Given the description of an element on the screen output the (x, y) to click on. 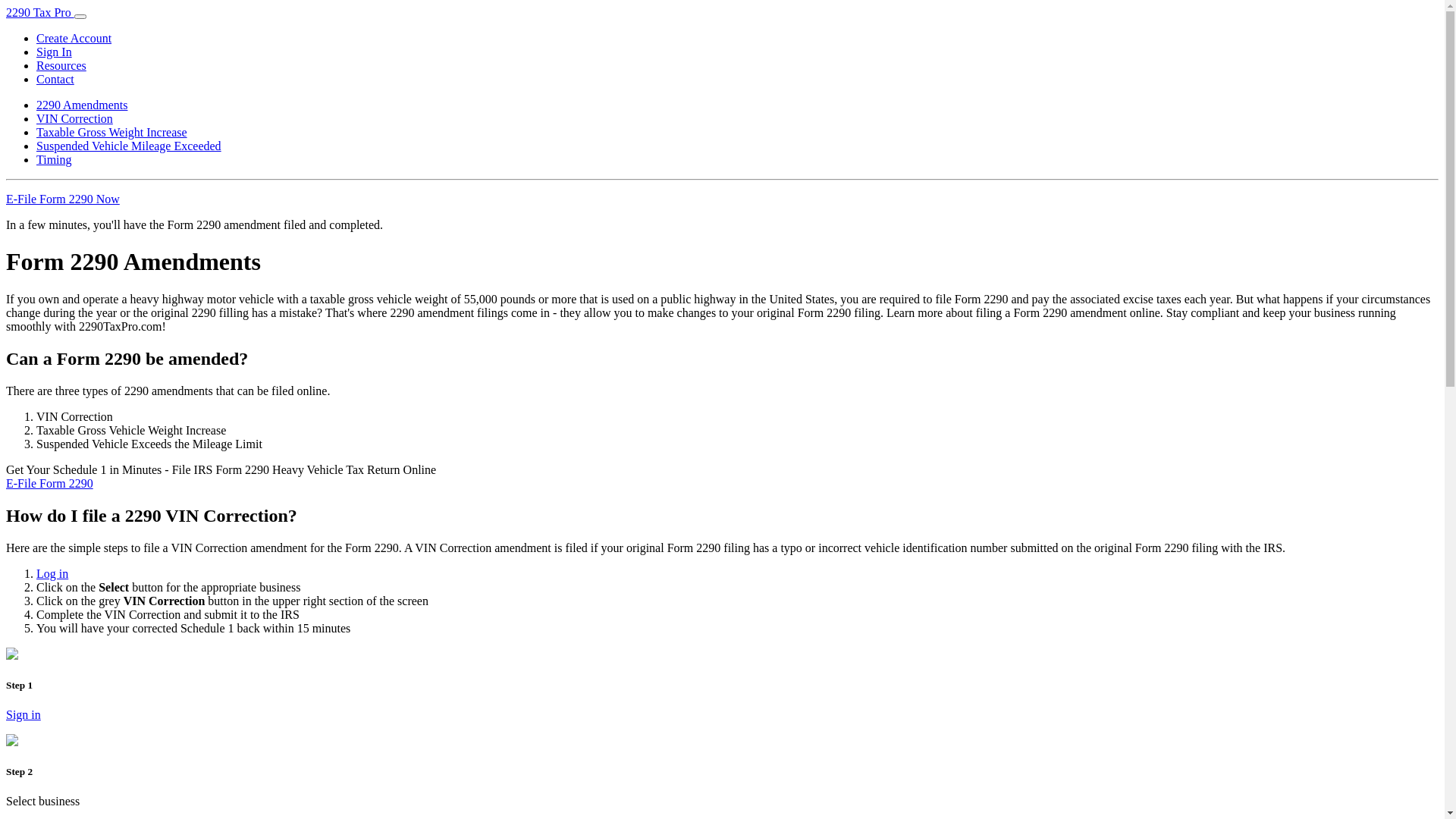
Taxable Gross Weight Increase Element type: text (111, 131)
VIN Correction Element type: text (74, 118)
2290 Amendments Element type: text (81, 104)
Log in Element type: text (52, 573)
Suspended Vehicle Mileage Exceeded Element type: text (128, 145)
Resources Element type: text (61, 65)
E-File Form 2290 Element type: text (49, 482)
Contact Element type: text (55, 78)
2290 Tax Pro Element type: text (40, 12)
Create Account Element type: text (73, 37)
E-File Form 2290 Now Element type: text (62, 198)
Timing Element type: text (54, 159)
Sign In Element type: text (54, 51)
Sign in Element type: text (23, 714)
